Given the description of an element on the screen output the (x, y) to click on. 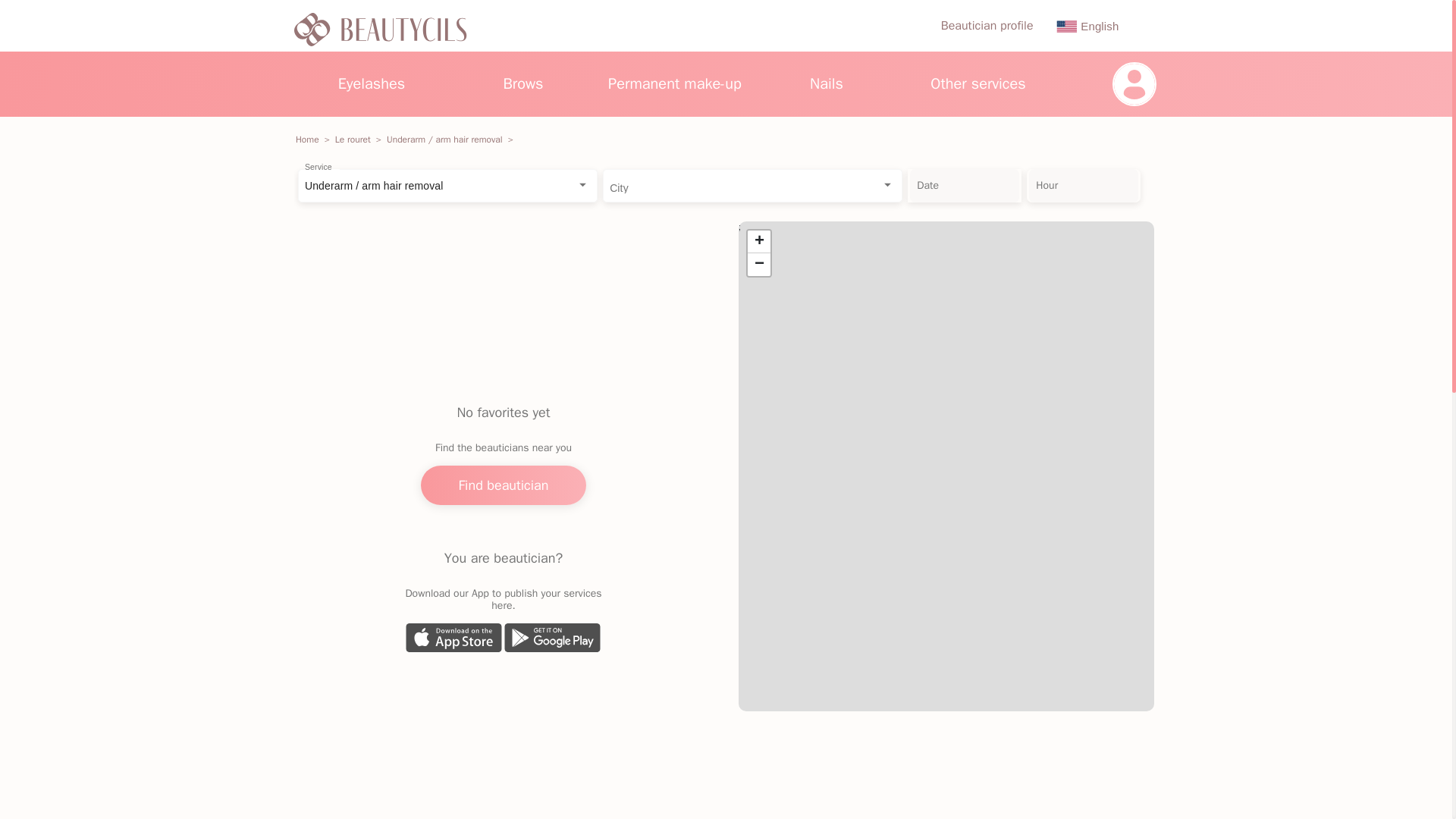
Open (582, 184)
Beautician profile (986, 25)
Brows (522, 83)
Zoom in (759, 241)
Master (986, 25)
Eyelashes (370, 83)
Open (886, 184)
Zoom out (759, 264)
Nails (826, 83)
Permanent make-up (674, 83)
Other services (978, 83)
